Given the description of an element on the screen output the (x, y) to click on. 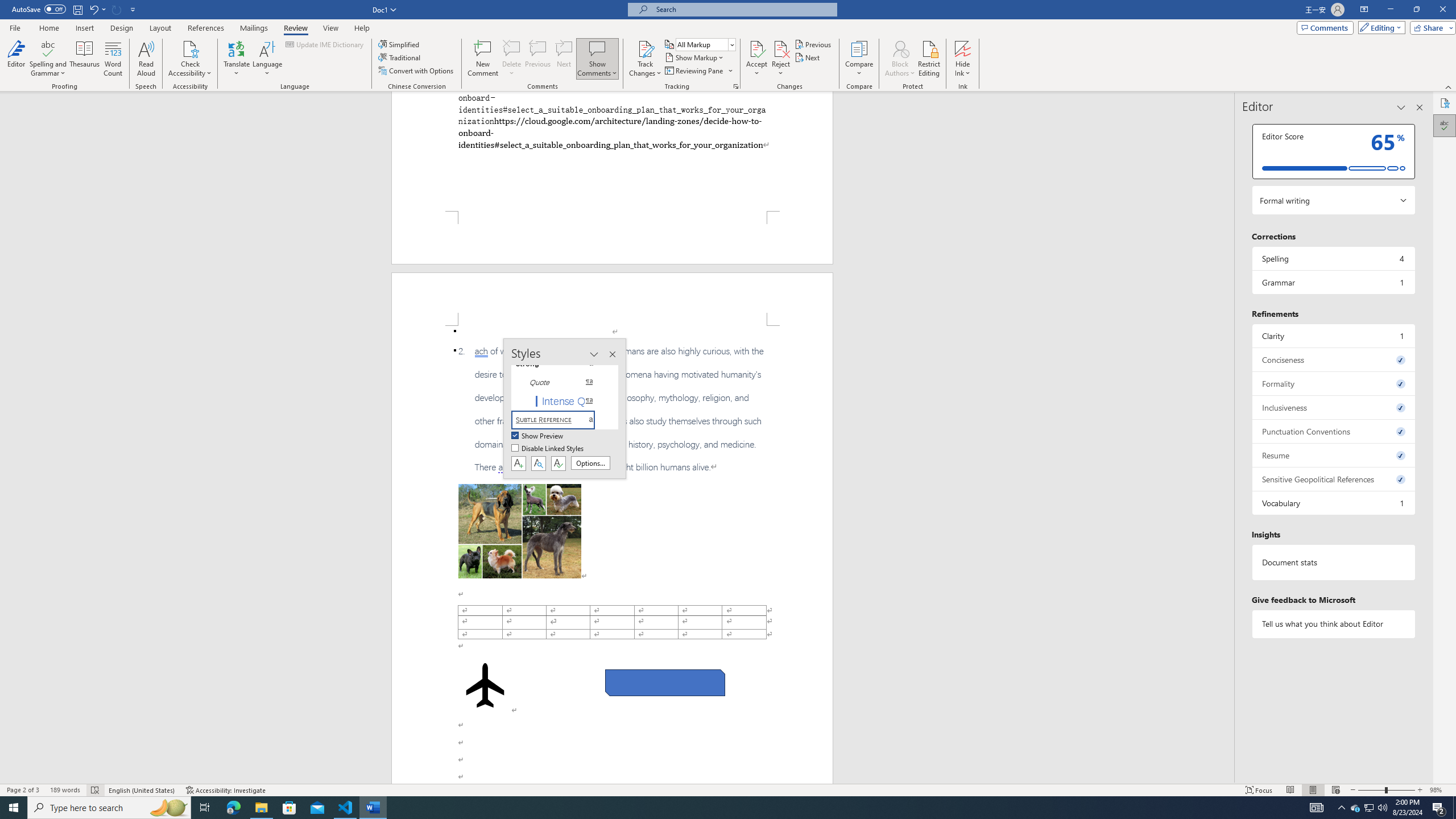
Display for Review (705, 44)
